Given the description of an element on the screen output the (x, y) to click on. 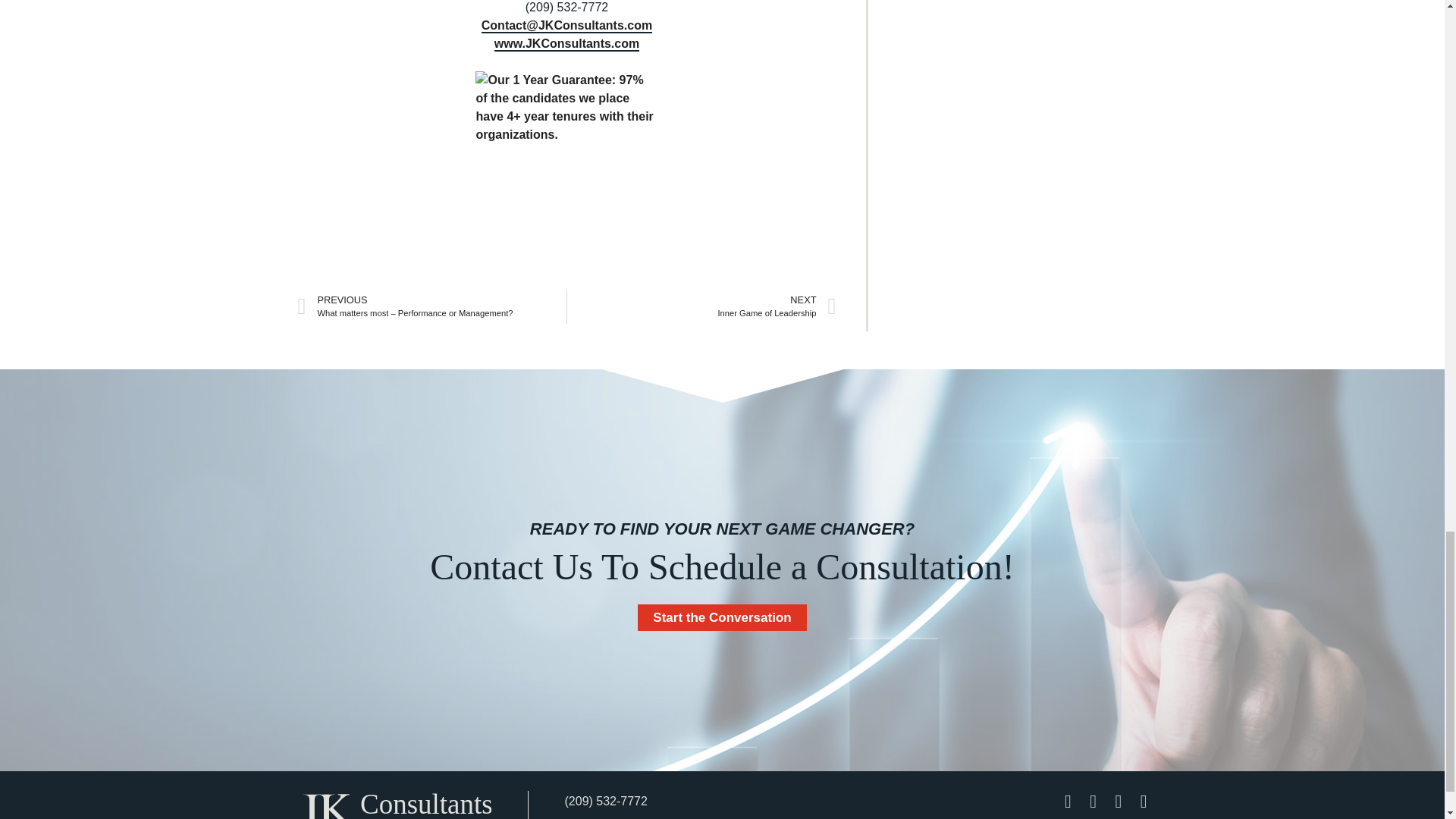
www.JKConsultants.com (567, 43)
